Given the description of an element on the screen output the (x, y) to click on. 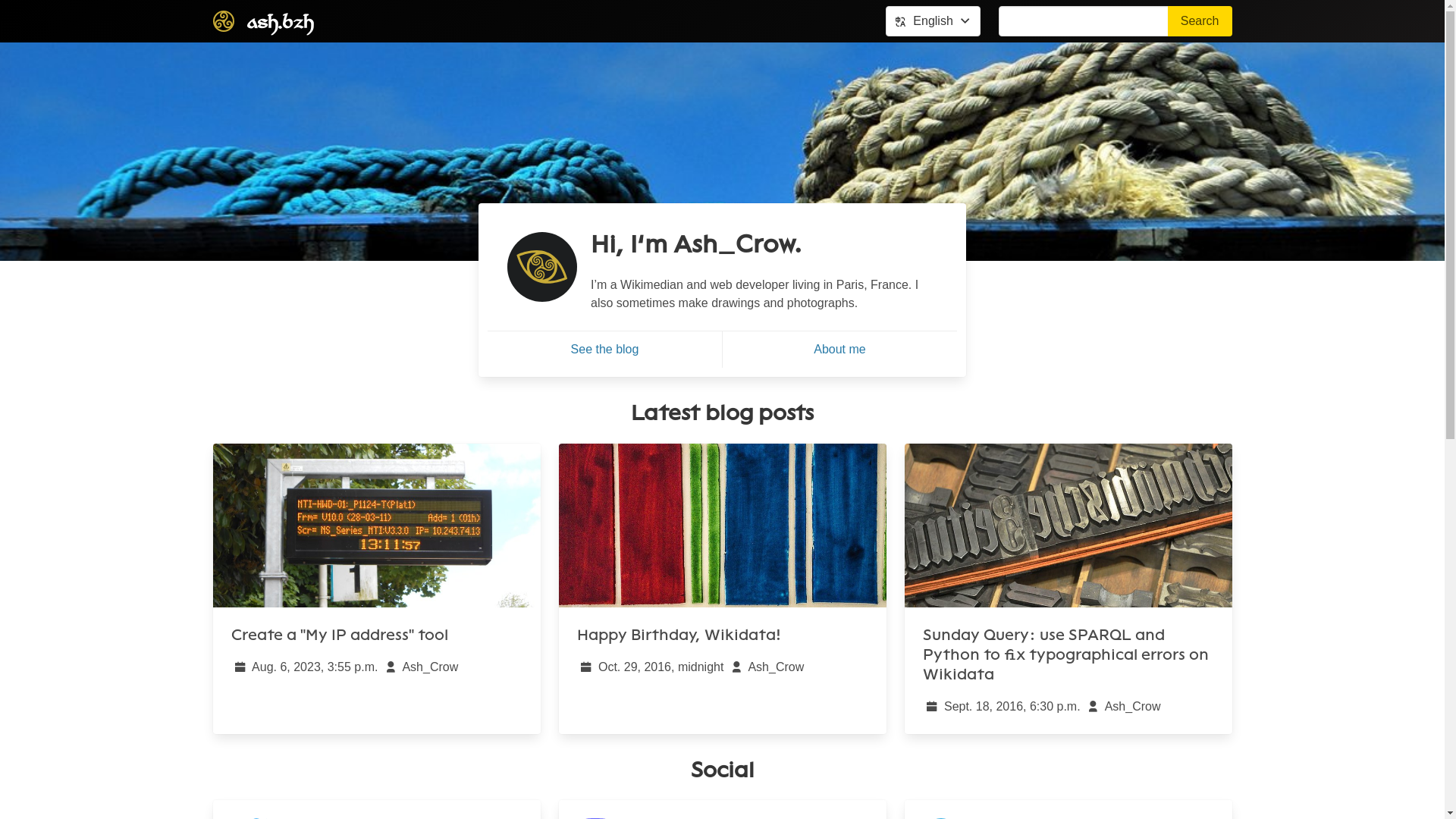
See the blog Element type: text (605, 349)
ash.bzh Element type: text (262, 21)
English Element type: text (932, 21)
Create a "My IP address" tool Element type: hover (375, 587)
About me Element type: text (839, 349)
Search Element type: text (1199, 21)
Happy Birthday, Wikidata! Element type: hover (721, 587)
